Given the description of an element on the screen output the (x, y) to click on. 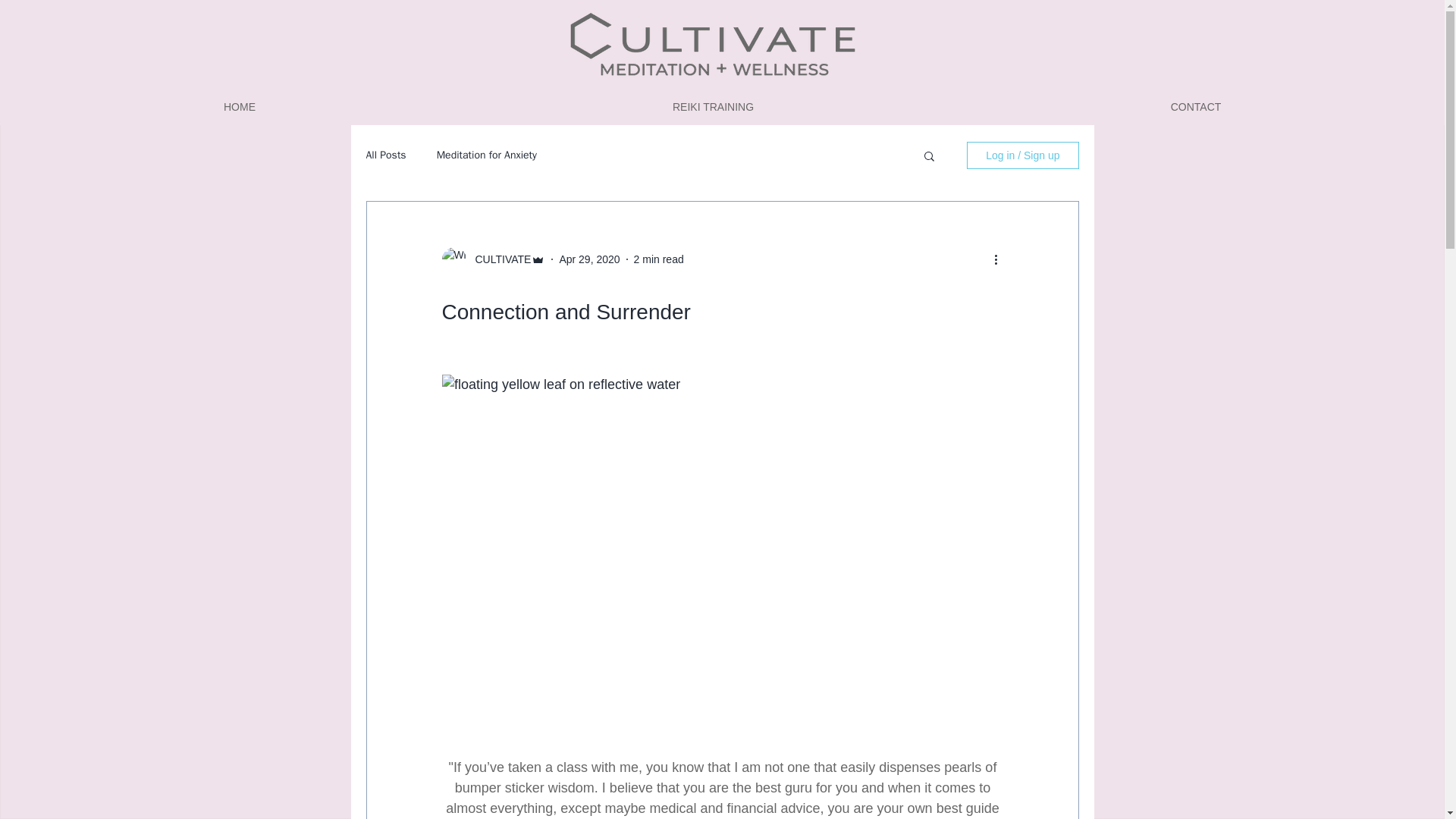
Apr 29, 2020 (589, 259)
Meditation for Anxiety (486, 155)
CONTACT (1195, 106)
2 min read (658, 259)
REIKI TRAINING (713, 106)
HOME (239, 106)
CULTIVATE (498, 259)
All Posts (385, 155)
